Given the description of an element on the screen output the (x, y) to click on. 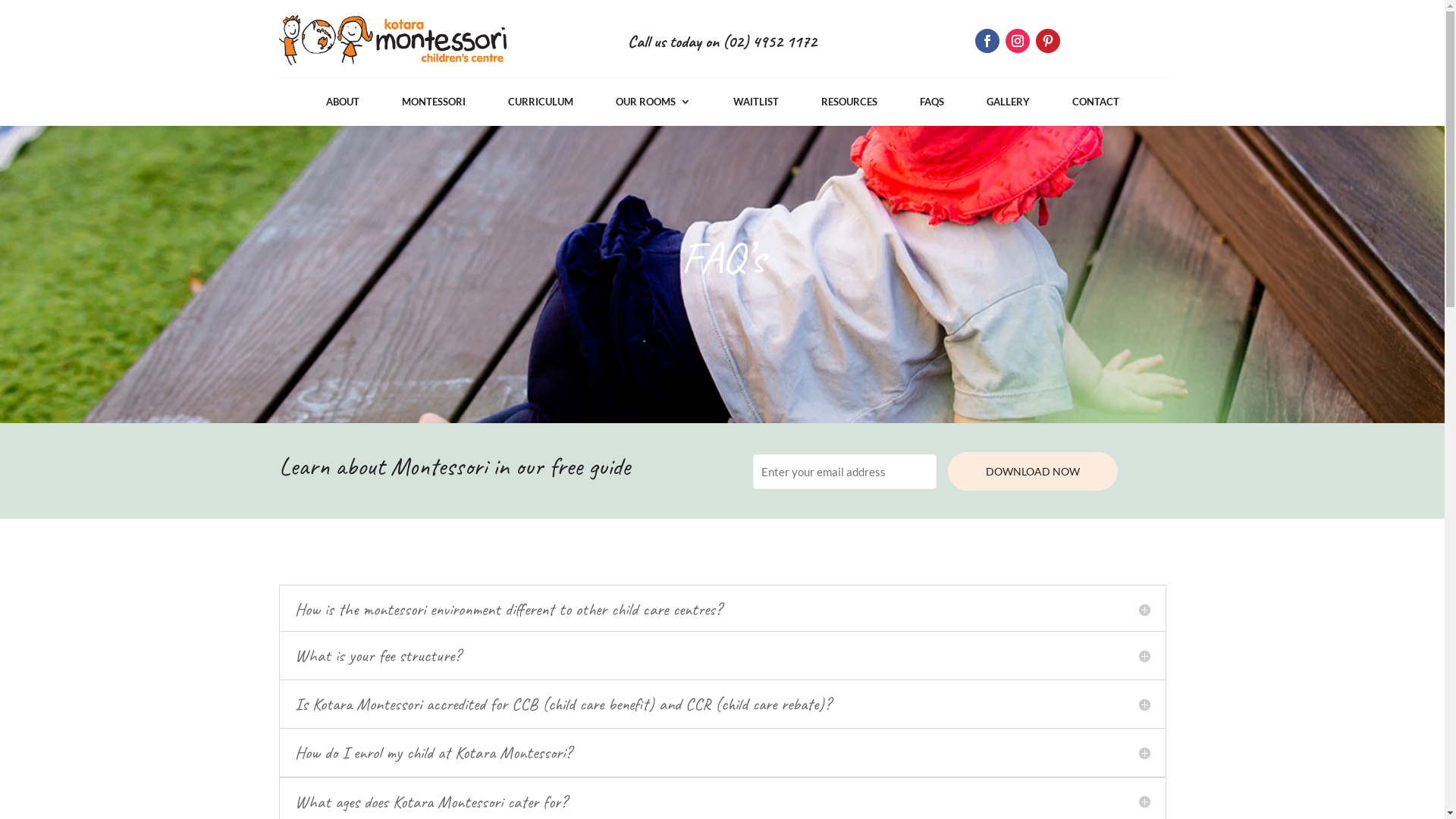
Follow on Pinterest Element type: hover (1047, 40)
CONTACT Element type: text (1095, 104)
Follow on Facebook Element type: hover (987, 40)
FAQS Element type: text (931, 104)
DOWNLOAD NOW Element type: text (1032, 470)
WAITLIST Element type: text (755, 104)
MONTESSORI Element type: text (433, 104)
OUR ROOMS Element type: text (652, 104)
Follow on Instagram Element type: hover (1017, 40)
CURRICULUM Element type: text (540, 104)
RESOURCES Element type: text (848, 104)
GALLERY Element type: text (1007, 104)
ABOUT Element type: text (342, 104)
